Given the description of an element on the screen output the (x, y) to click on. 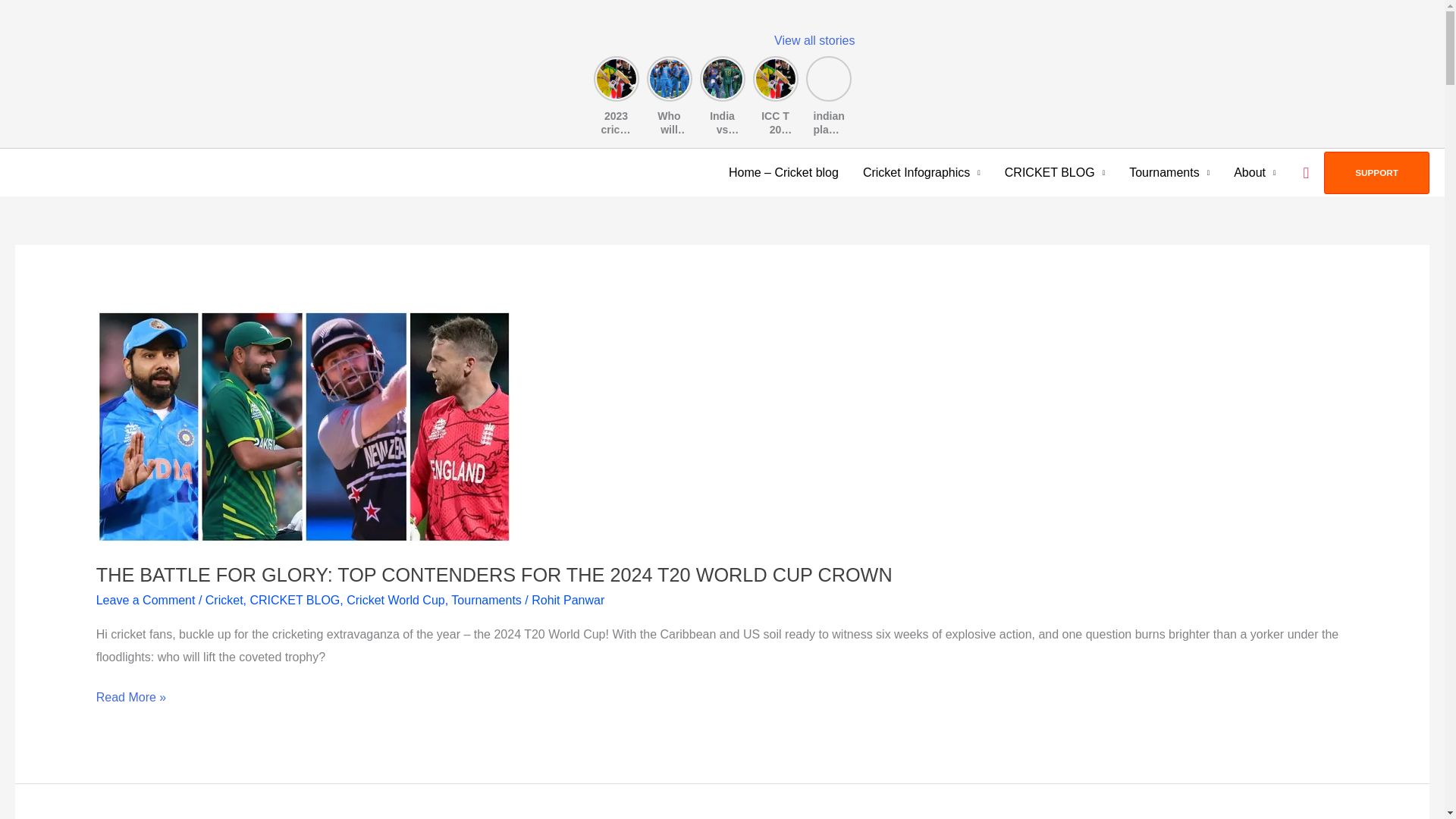
SUPPORT (1376, 172)
CRICKET BLOG (1054, 172)
About (1254, 172)
Tournaments (1168, 172)
View all stories (814, 40)
View all posts by Rohit Panwar (567, 599)
Cricket Infographics (921, 172)
